Given the description of an element on the screen output the (x, y) to click on. 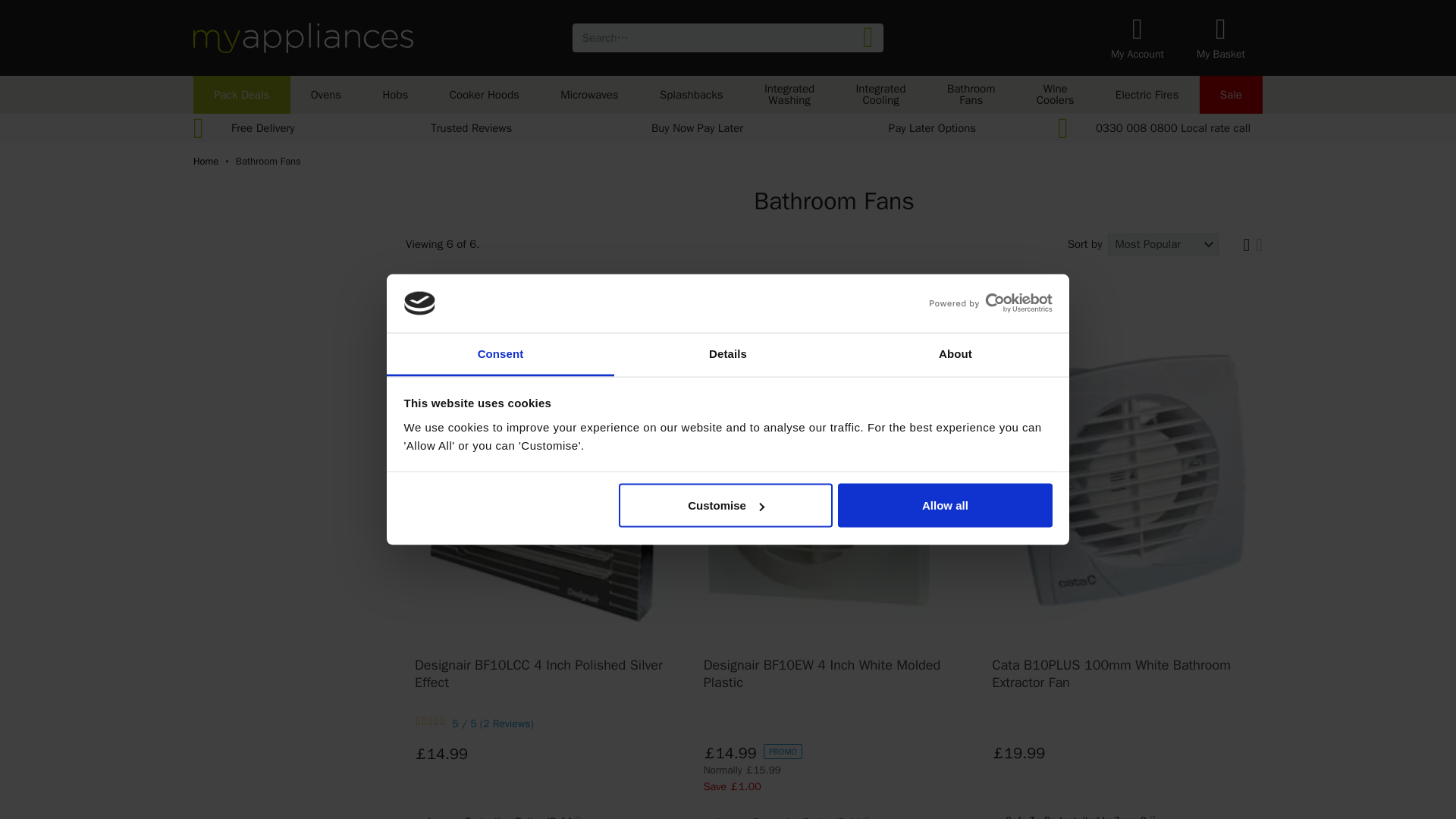
Consent (500, 353)
Details (727, 353)
MyAppliances (303, 38)
About (954, 353)
Search (868, 37)
